Given the description of an element on the screen output the (x, y) to click on. 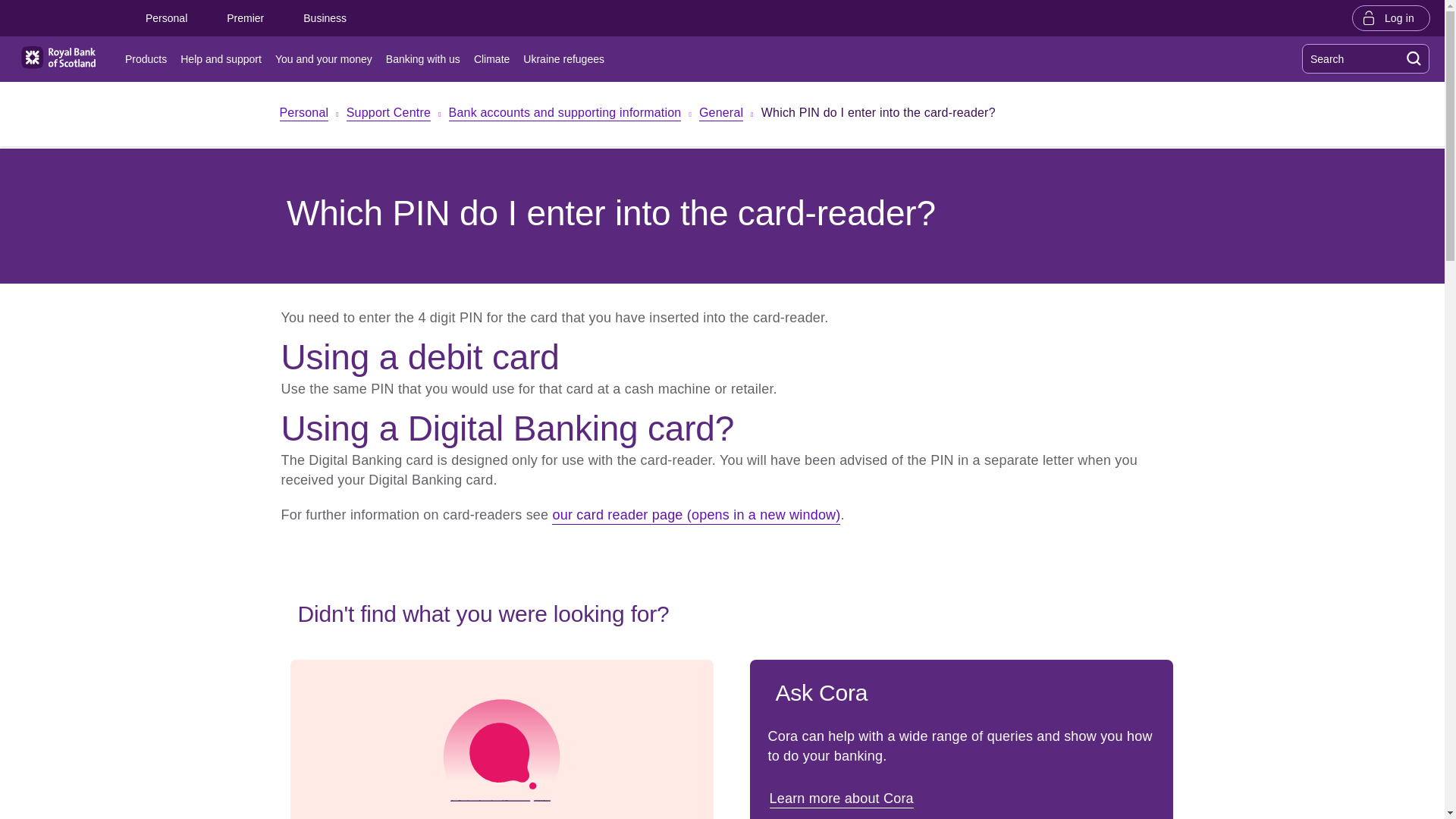
Premier (244, 18)
Bank accounts and supporting information (564, 114)
Learn more about Cora (842, 798)
General (720, 114)
Support Centre (388, 114)
Which PIN do I enter into the card-reader? (878, 115)
Log in (1390, 17)
Royal Bank of Scotland (57, 58)
Personal (165, 18)
Products (149, 58)
